Given the description of an element on the screen output the (x, y) to click on. 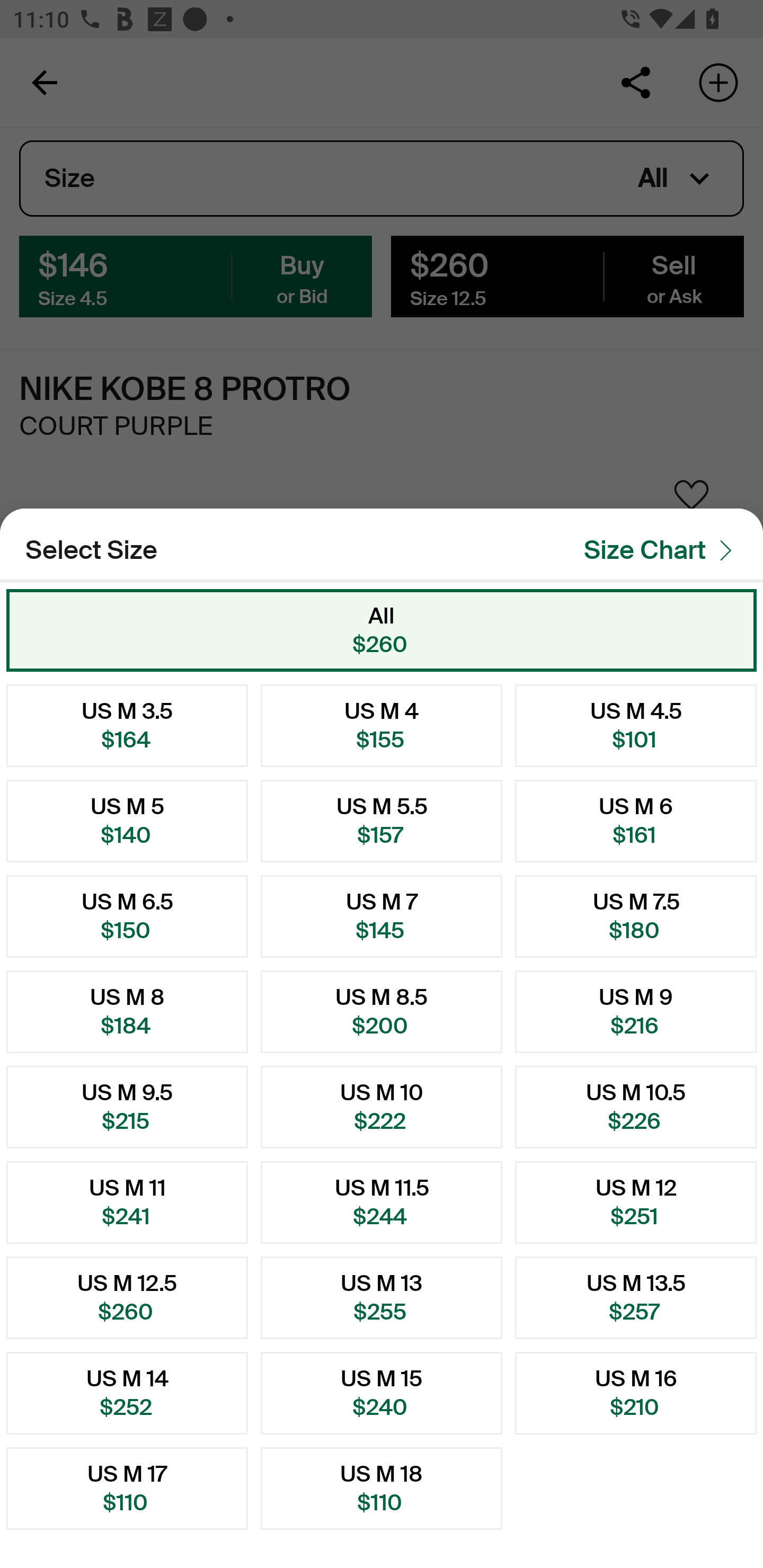
Size Chart (663, 550)
All $260 (381, 630)
US M 3.5 $164 (126, 724)
US M 4 $155 (381, 724)
US M 4.5 $101 (635, 724)
US M 5 $140 (126, 820)
US M 5.5 $157 (381, 820)
US M 6 $161 (635, 820)
US M 6.5 $150 (126, 916)
US M 7 $145 (381, 916)
US M 7.5 $180 (635, 916)
US M 8 $184 (126, 1011)
US M 8.5 $200 (381, 1011)
US M 9 $216 (635, 1011)
US M 9.5 $215 (126, 1106)
US M 10 $222 (381, 1106)
US M 10.5 $226 (635, 1106)
US M 11 $241 (126, 1202)
US M 11.5 $244 (381, 1202)
US M 12 $251 (635, 1202)
US M 12.5 $260 (126, 1297)
US M 13 $255 (381, 1297)
US M 13.5 $257 (635, 1297)
US M 14 $252 (126, 1392)
US M 15 $240 (381, 1392)
US M 16 $210 (635, 1392)
US M 17 $110 (126, 1488)
US M 18 $110 (381, 1488)
